Given the description of an element on the screen output the (x, y) to click on. 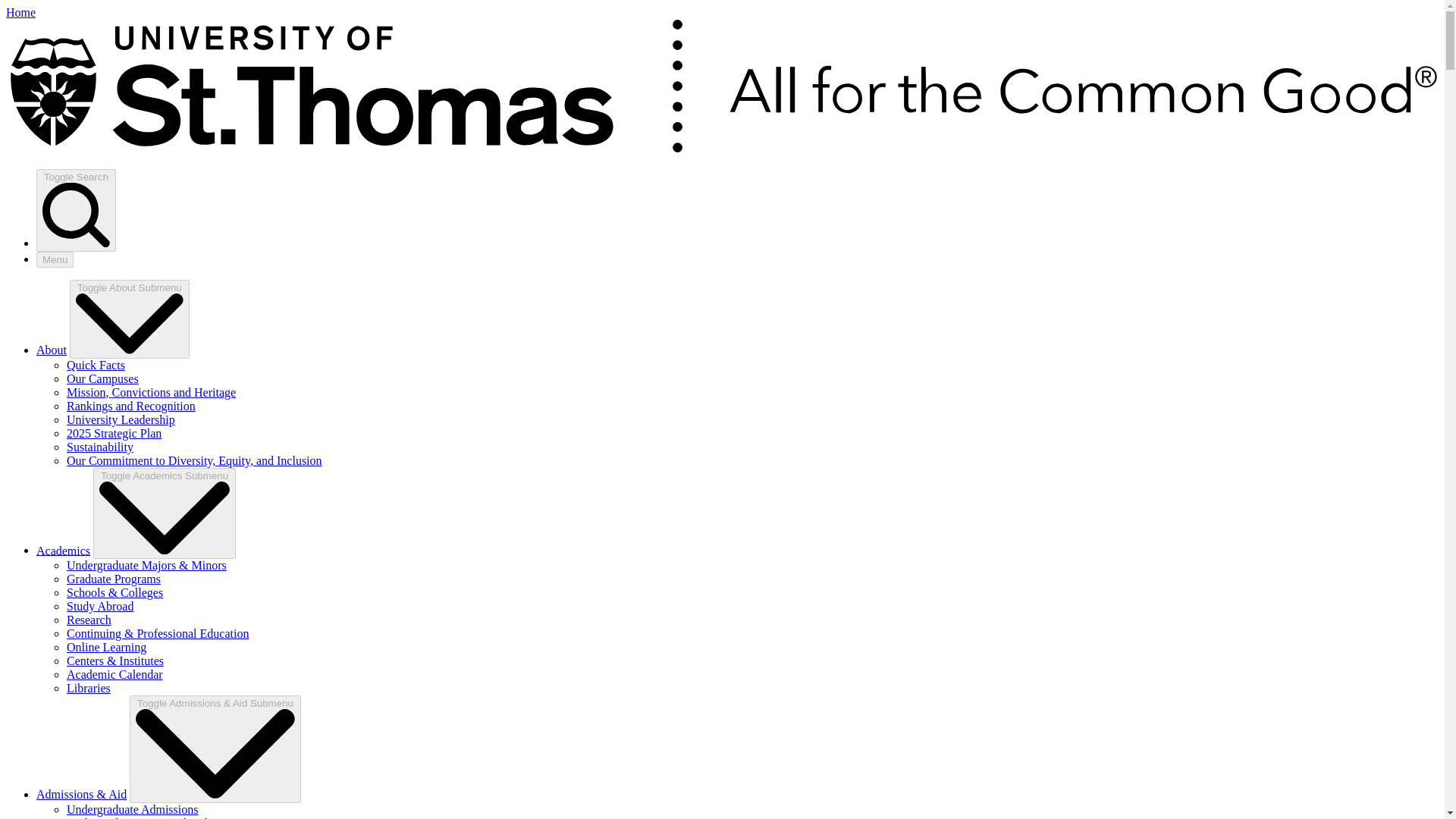
Toggle About Submenu (129, 319)
Toggle Search (76, 209)
Research (89, 619)
Menu (55, 259)
Online Learning (106, 646)
Sustainability (99, 446)
Study Abroad (99, 605)
University Leadership (120, 419)
Quick Facts (95, 364)
Undergraduate Admissions (132, 809)
